Given the description of an element on the screen output the (x, y) to click on. 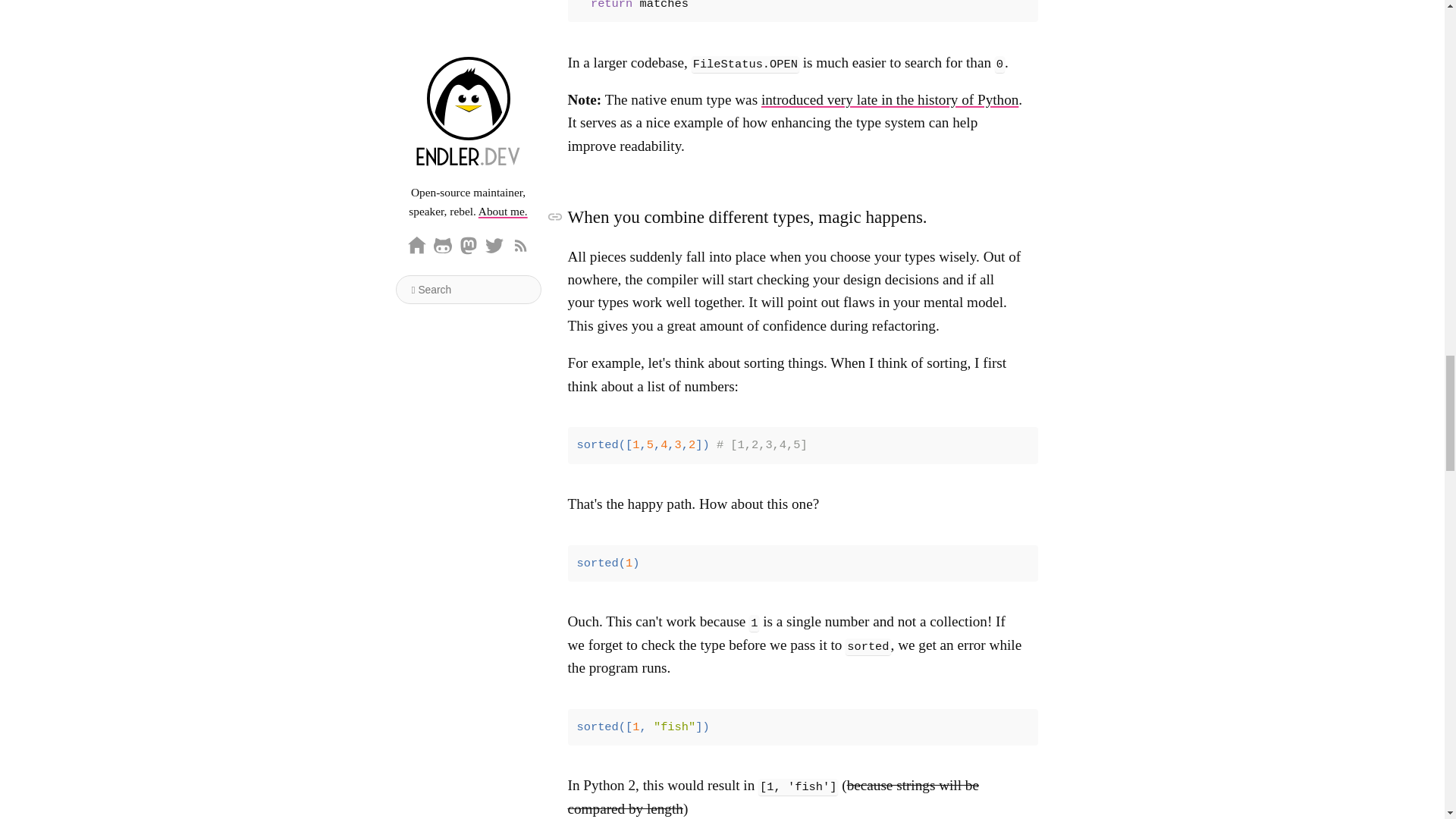
introduced very late in the history of Python (889, 99)
